Given the description of an element on the screen output the (x, y) to click on. 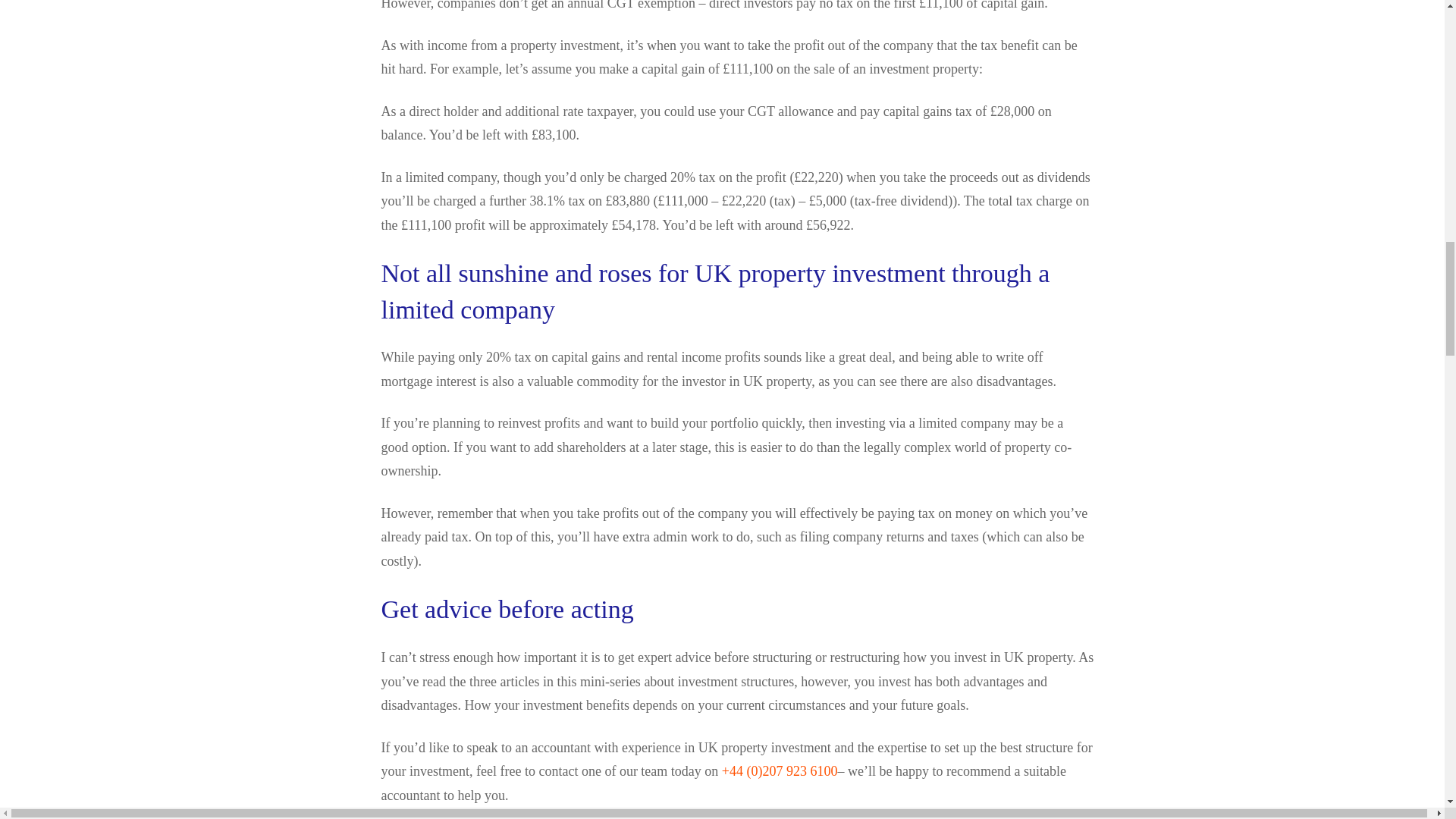
Call with 8x8 (780, 770)
